Given the description of an element on the screen output the (x, y) to click on. 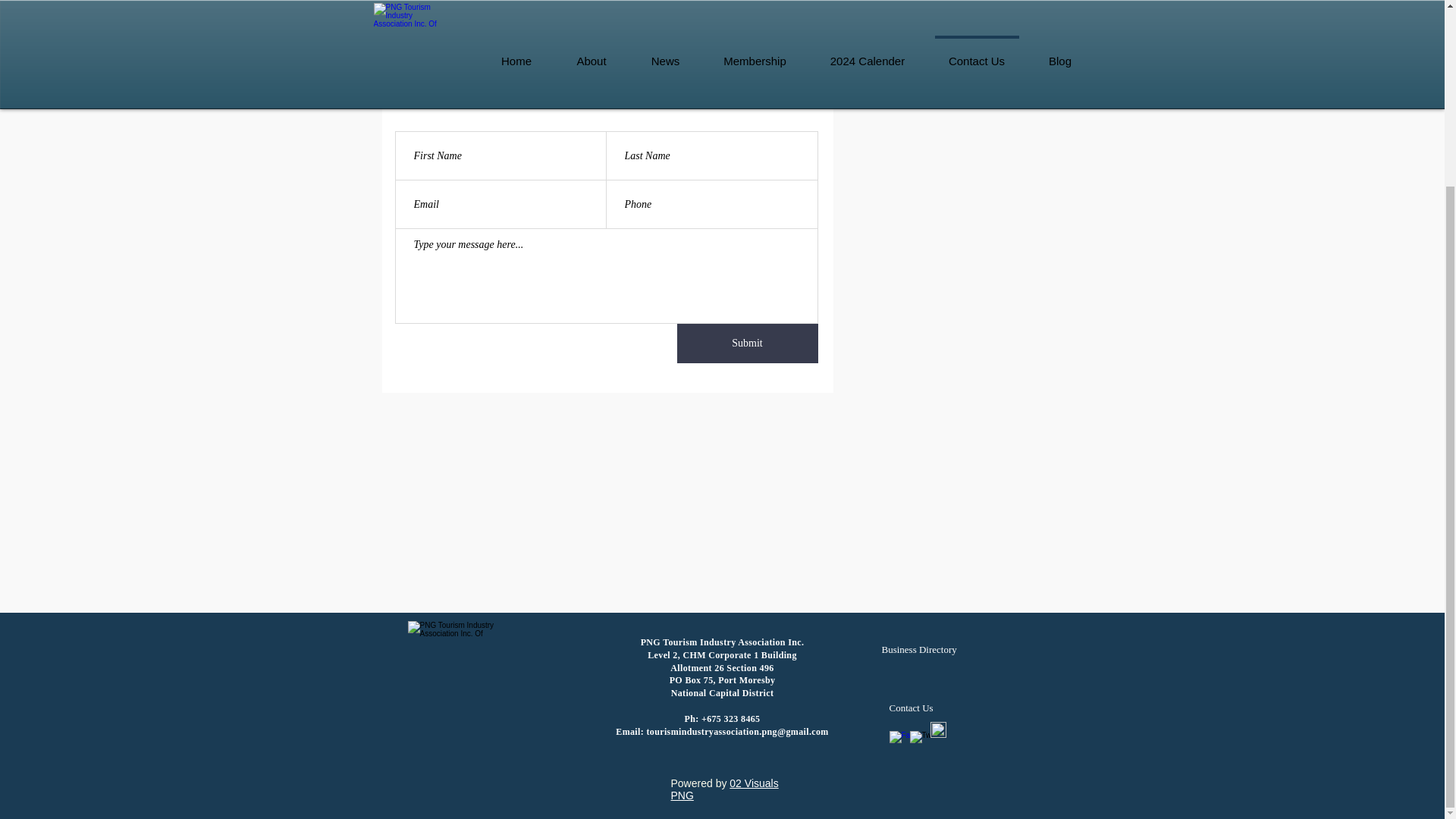
Business Directory (918, 649)
02 Visuals PNG (723, 789)
Become A Member (442, 2)
Submit (746, 343)
